Given the description of an element on the screen output the (x, y) to click on. 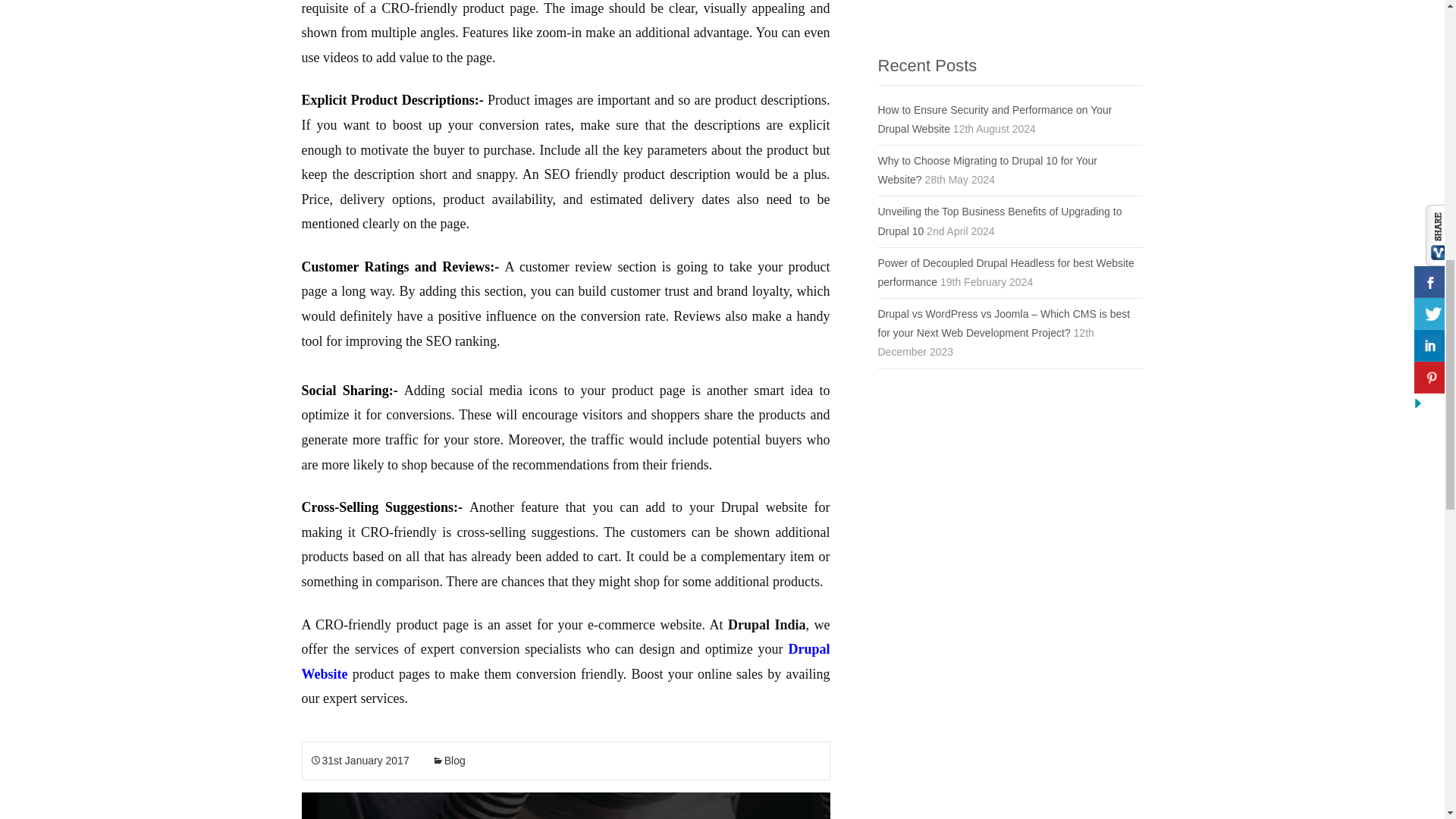
Drupal Website (565, 661)
31st January 2017 (358, 760)
Blog (448, 760)
